Given the description of an element on the screen output the (x, y) to click on. 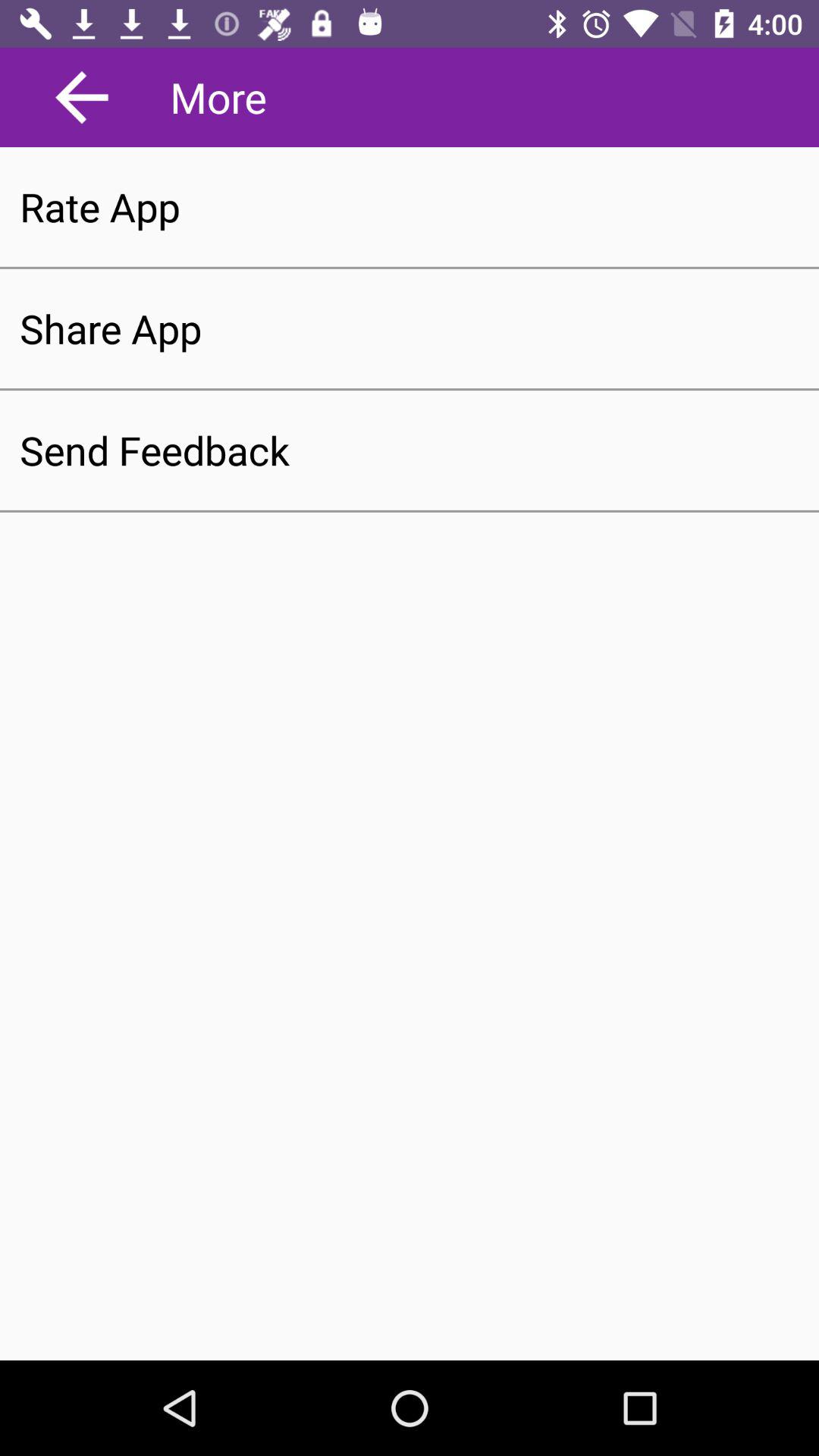
turn on the icon next to more (81, 97)
